Given the description of an element on the screen output the (x, y) to click on. 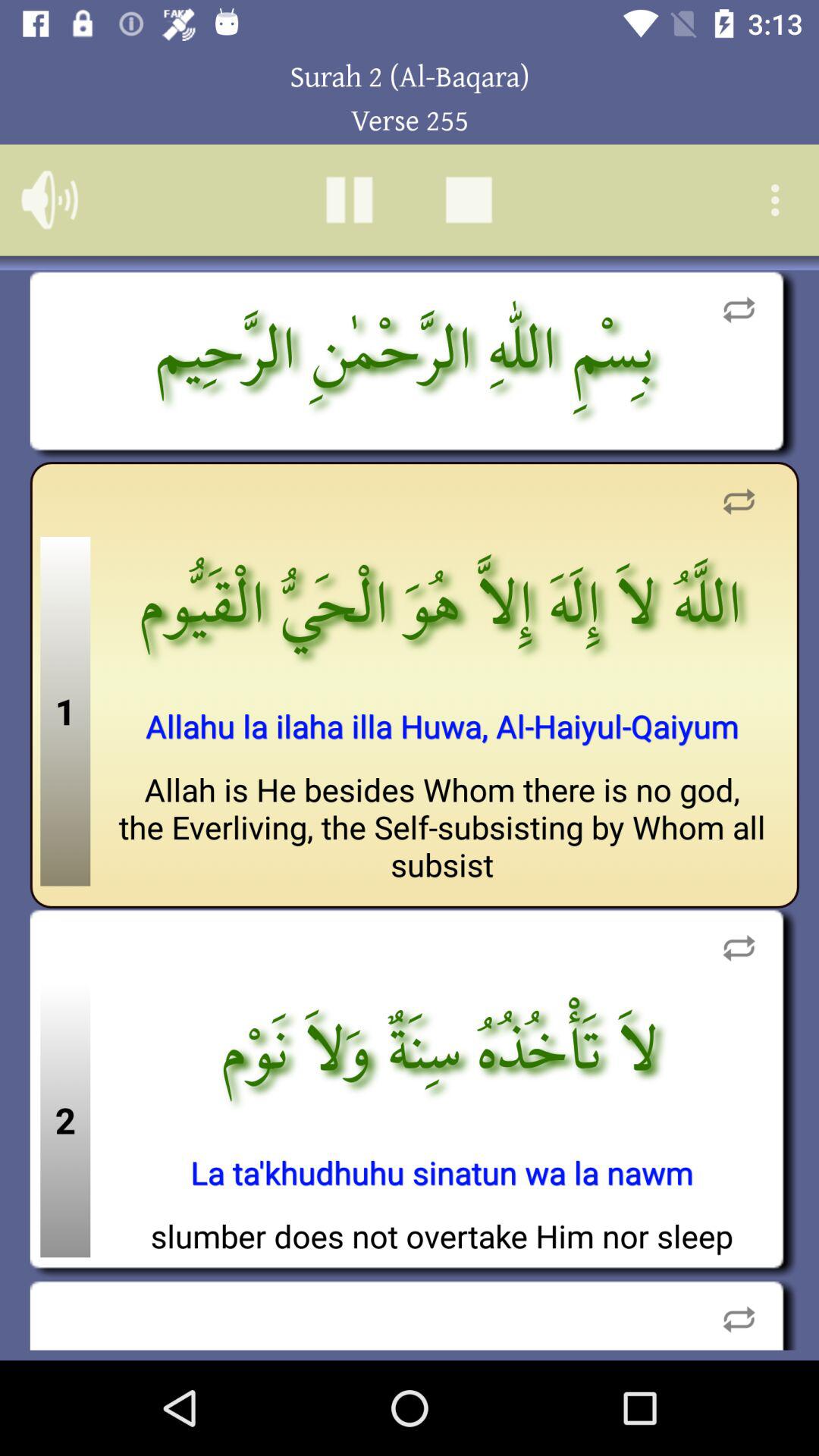
stop scrolling (468, 199)
